Given the description of an element on the screen output the (x, y) to click on. 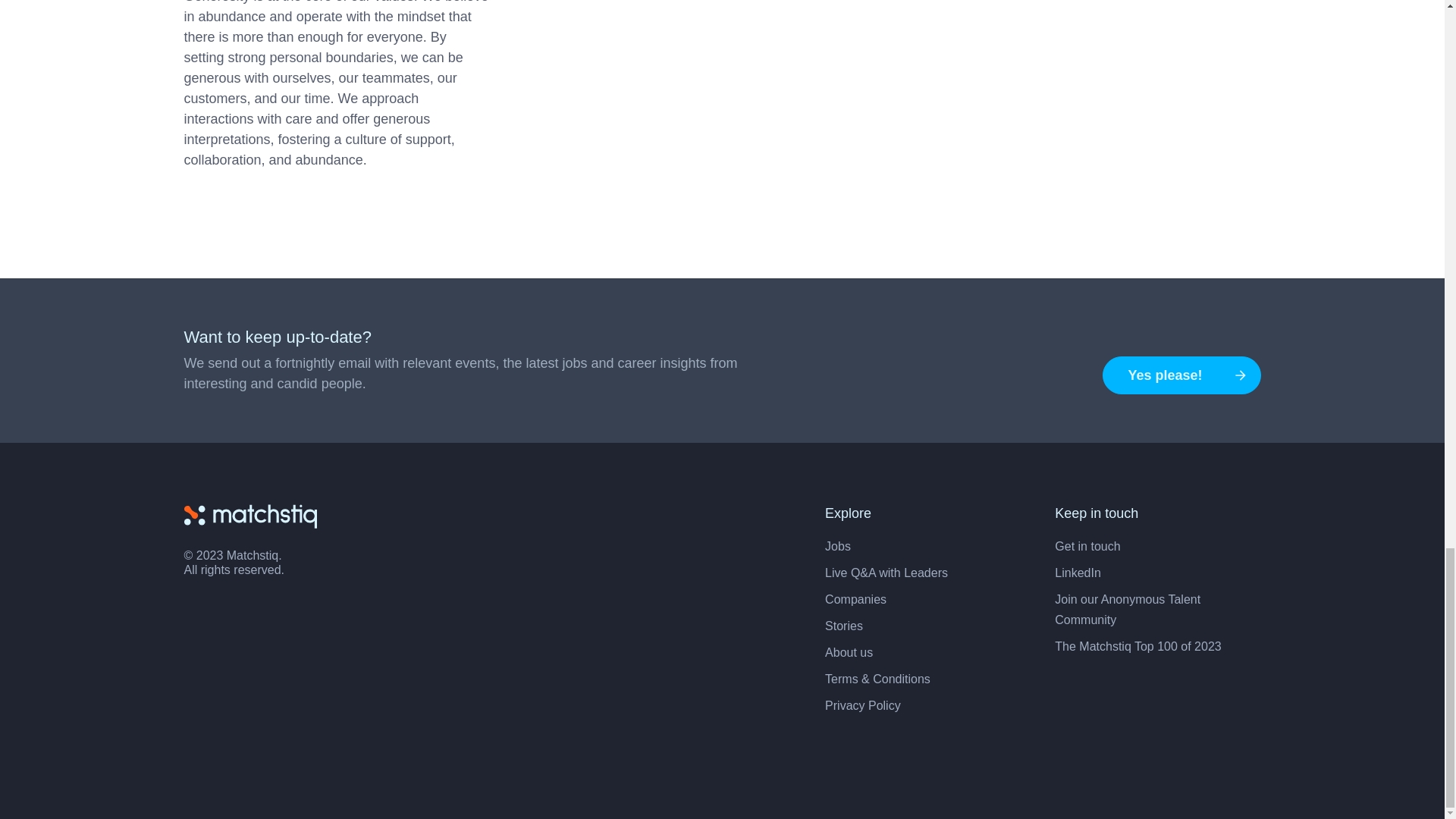
Jobs (837, 545)
Matchstiq (249, 515)
Privacy Policy (863, 705)
Get in touch (1086, 545)
Join our Anonymous Talent Community (1126, 609)
Companies (855, 599)
Yes please! (1181, 374)
About us (848, 652)
Stories (844, 625)
The Matchstiq Top 100 of 2023 (1137, 645)
